Given the description of an element on the screen output the (x, y) to click on. 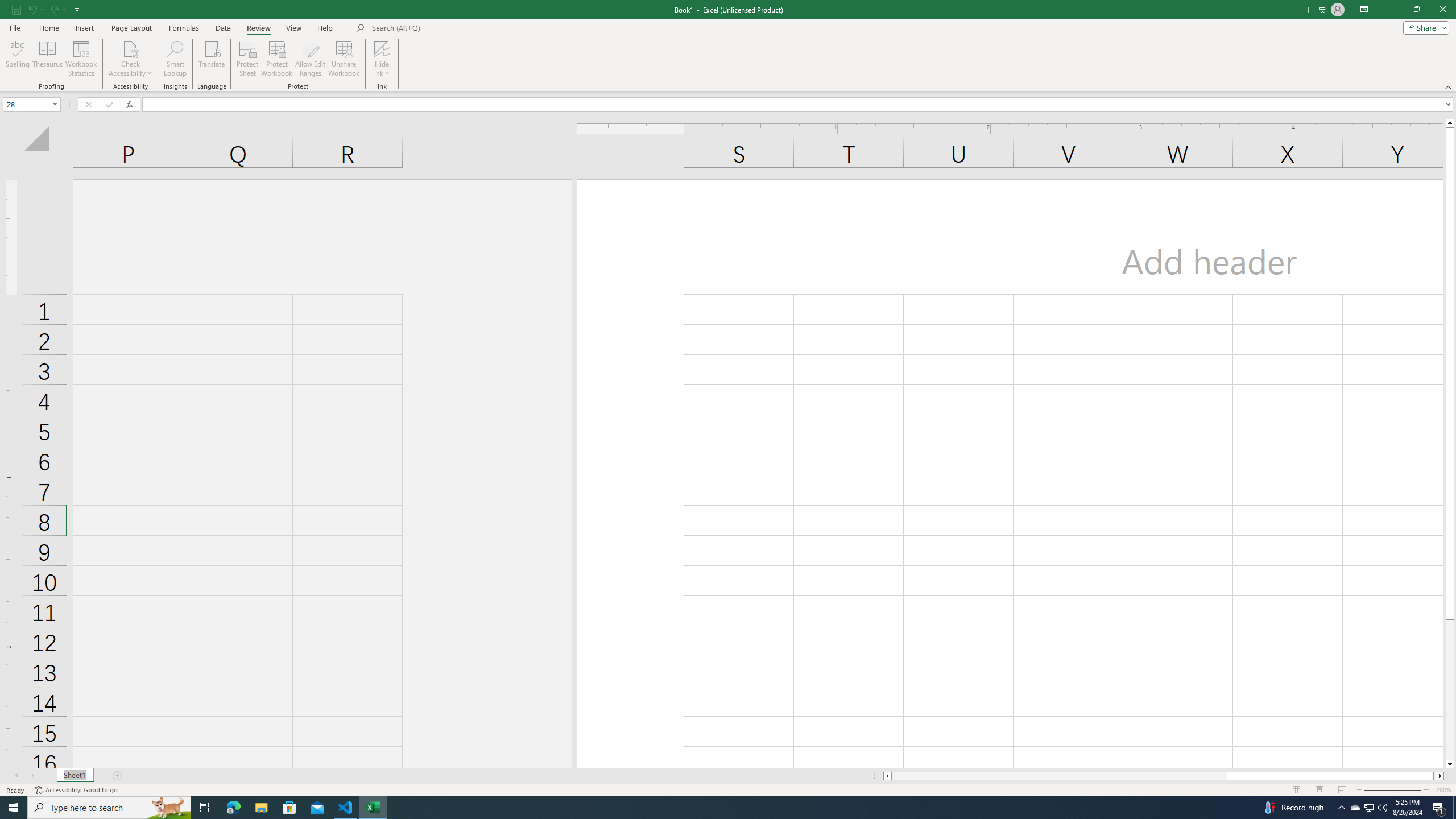
Zoom In (1426, 790)
Accessibility Checker Accessibility: Good to go (76, 790)
Open (54, 104)
Home (48, 28)
Line up (1449, 122)
Page down (1449, 689)
Column right (1440, 775)
Allow Edit Ranges (310, 58)
Workbook Statistics (81, 58)
Scroll Right (32, 775)
Formulas (184, 28)
